Given the description of an element on the screen output the (x, y) to click on. 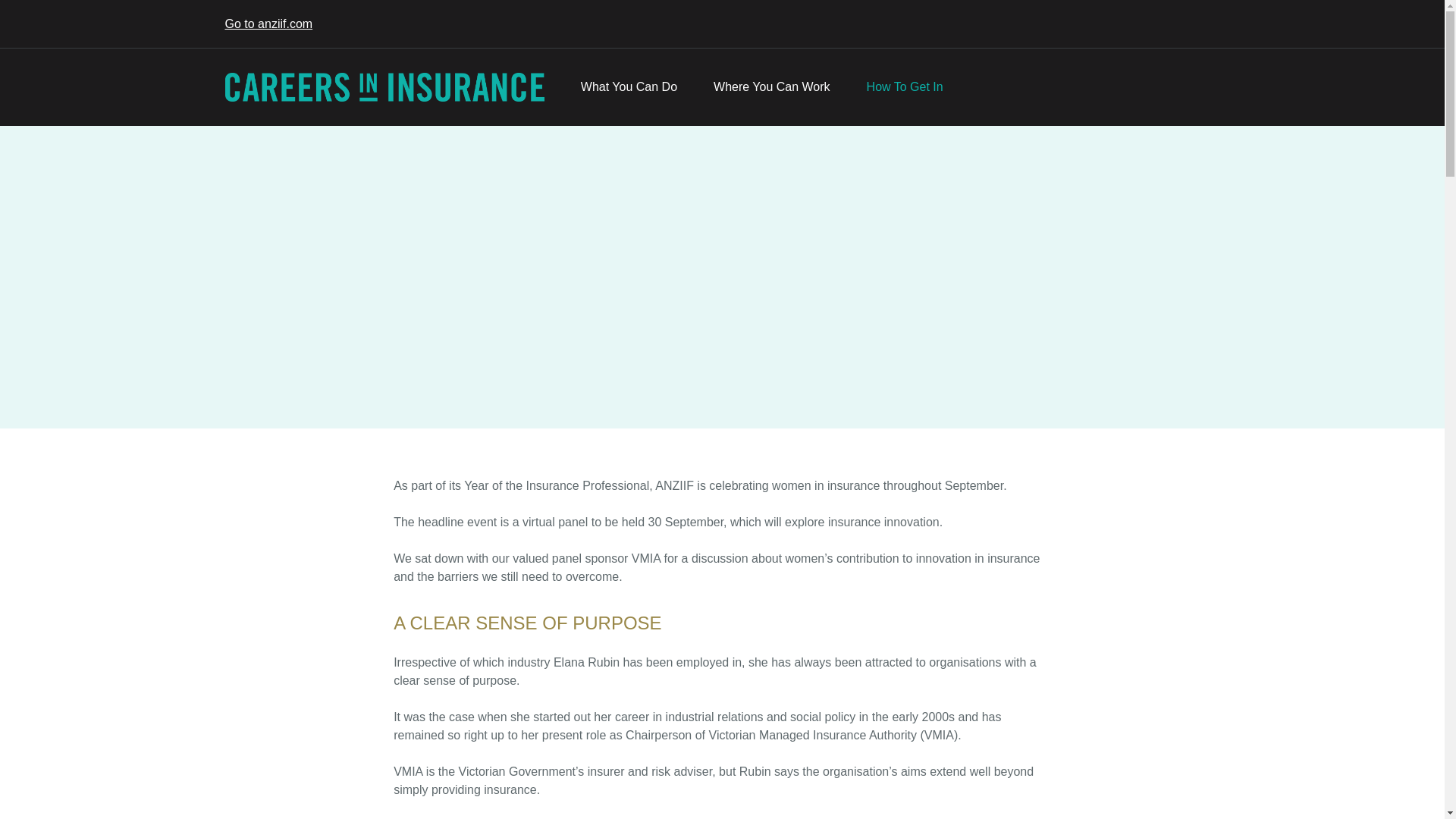
Go to anziif.com (268, 22)
How To Get In (904, 87)
Careers in Insurance (383, 87)
Where You Can Work (771, 87)
What You Can Do (628, 87)
